Given the description of an element on the screen output the (x, y) to click on. 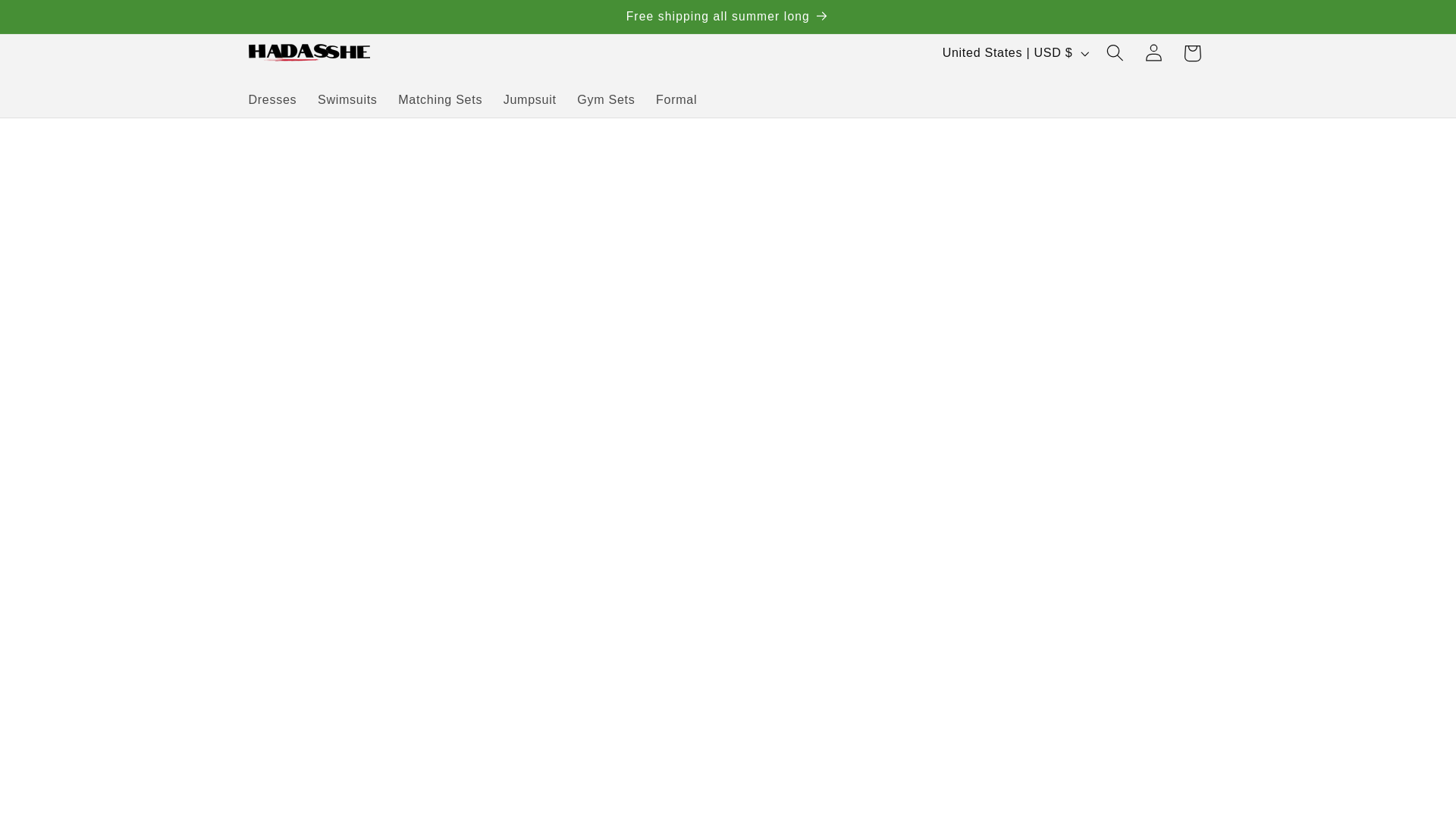
Skip to content (56, 22)
Log in (1153, 53)
Free shipping all summer long (728, 16)
Cart (1192, 53)
Swimsuits (347, 99)
Matching Sets (440, 99)
Dresses (272, 99)
Formal (676, 99)
Gym Sets (605, 99)
Jumpsuit (530, 99)
